Given the description of an element on the screen output the (x, y) to click on. 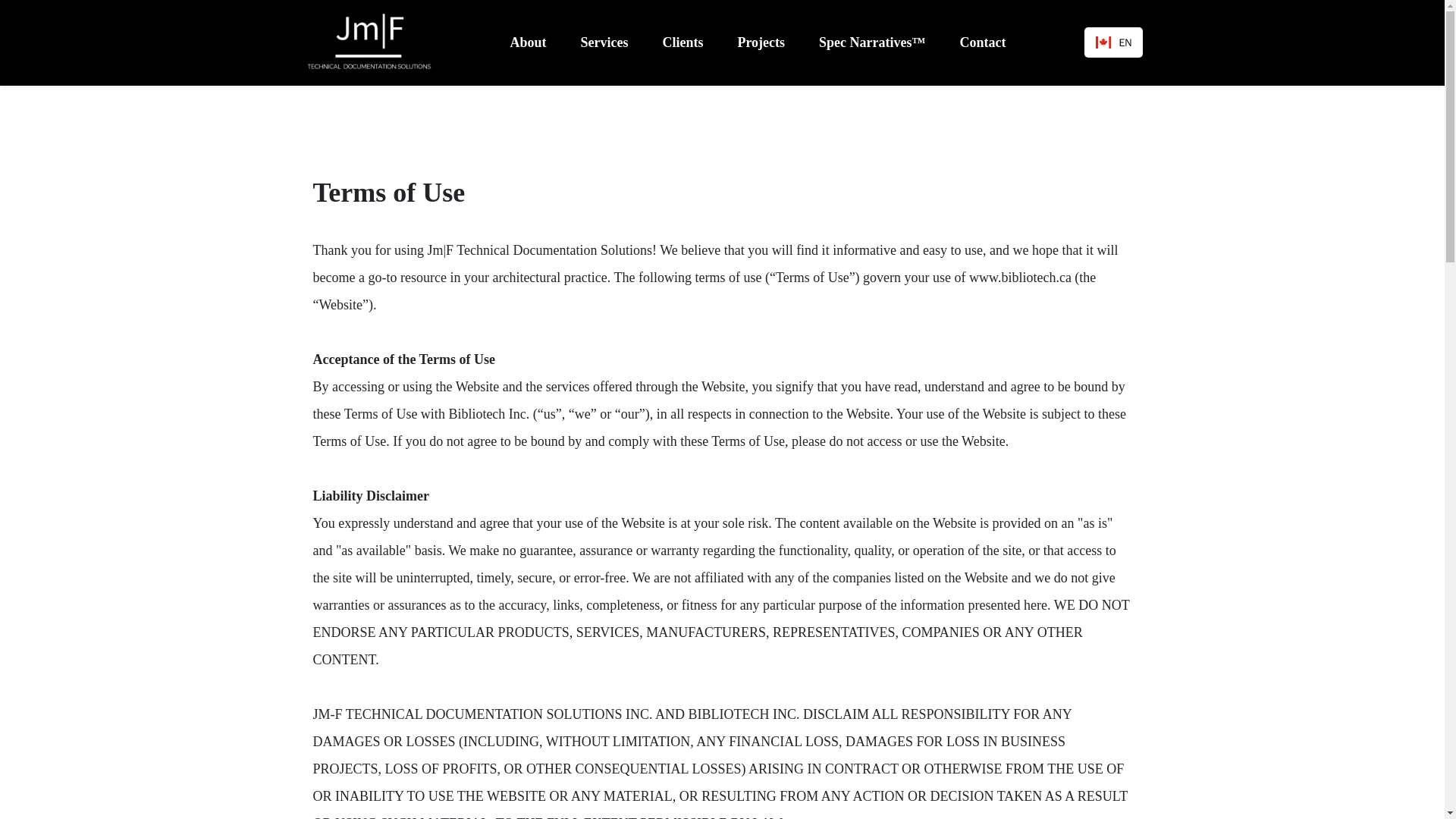
EN (1113, 42)
Clients (692, 42)
Contact (993, 42)
About (537, 42)
Projects (771, 42)
Services (614, 42)
